Given the description of an element on the screen output the (x, y) to click on. 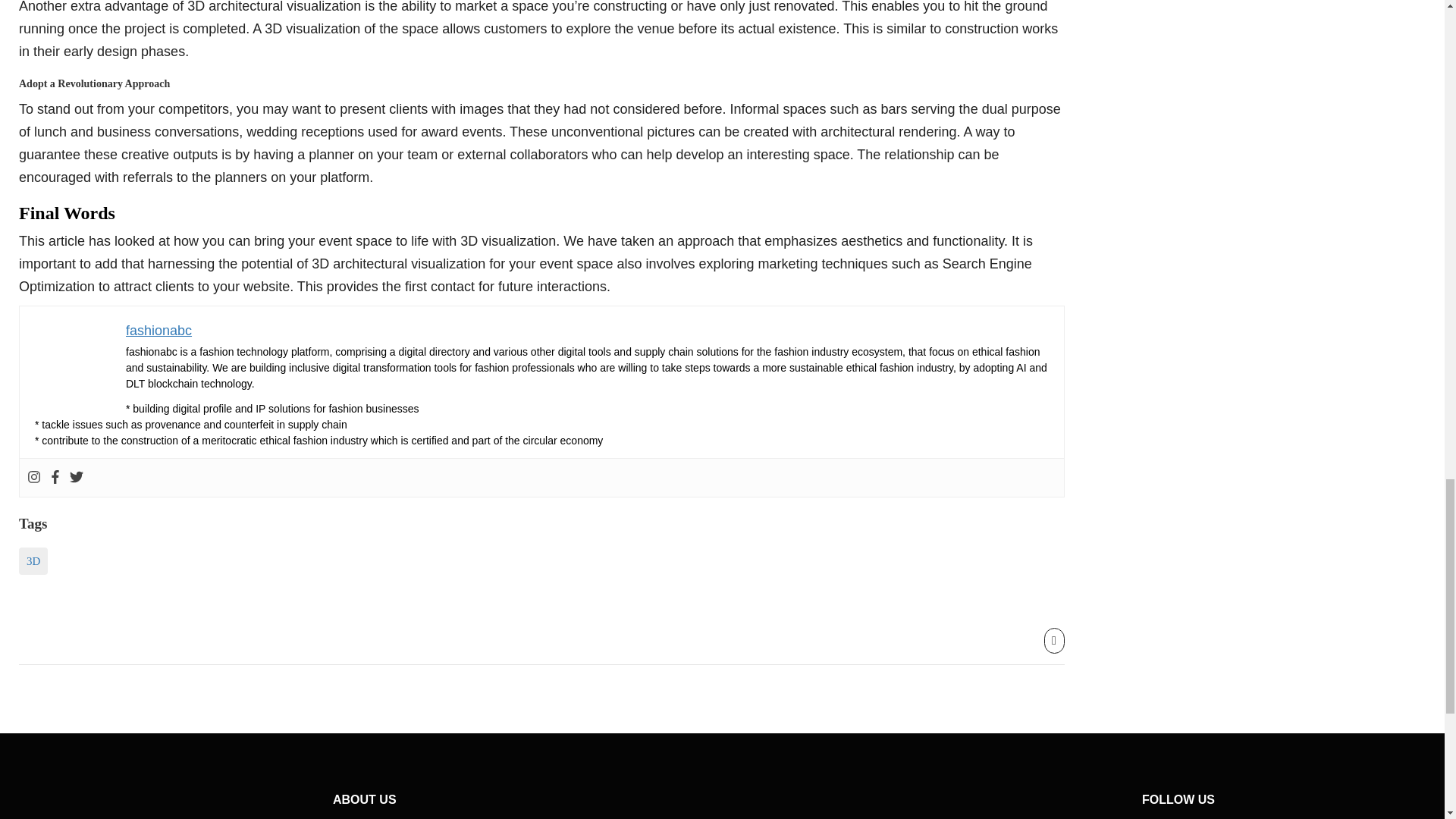
Instagram (33, 477)
Twitter (75, 477)
Facebook (55, 477)
